Given the description of an element on the screen output the (x, y) to click on. 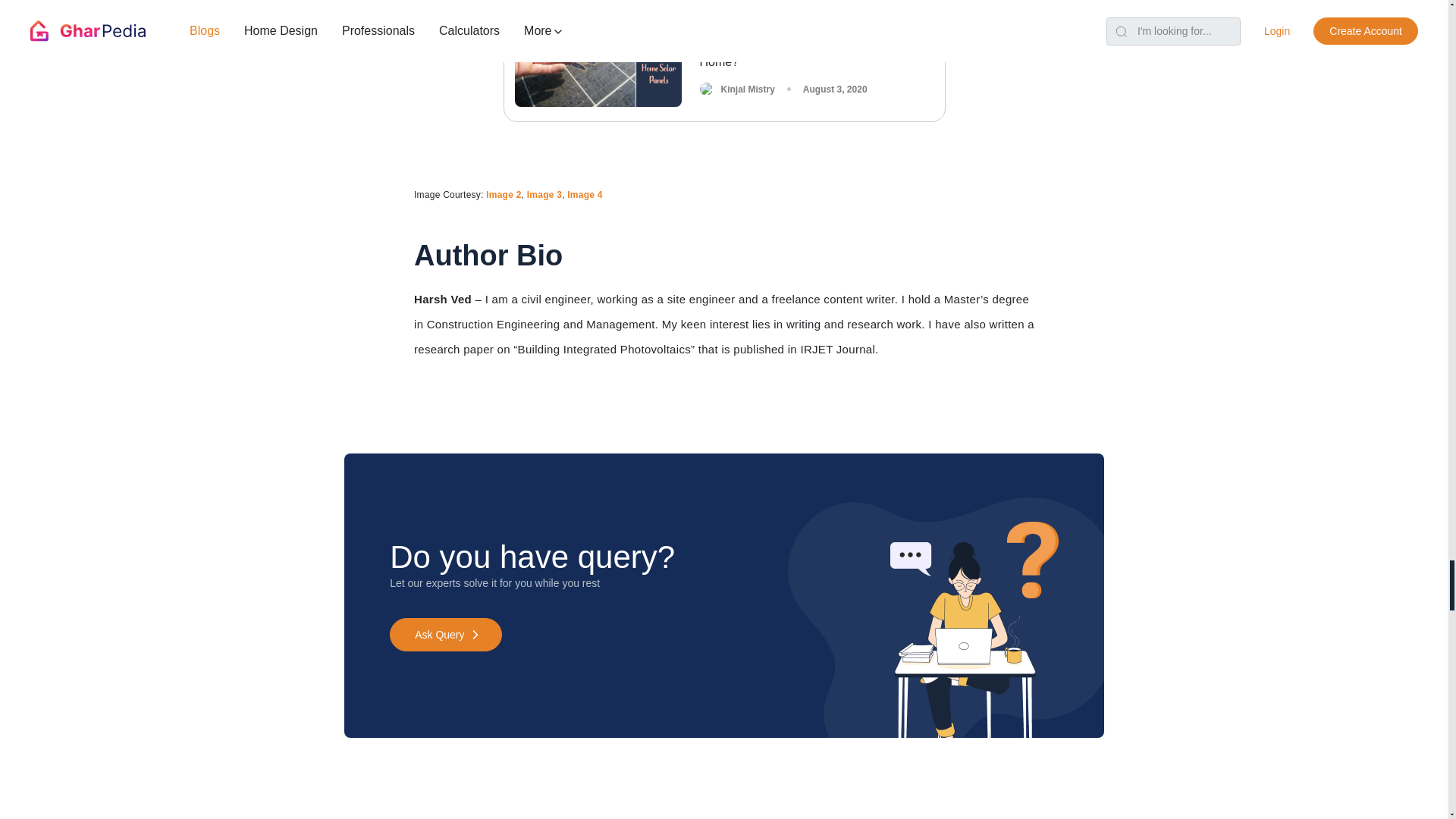
Image 2 (503, 194)
Image 4 (584, 194)
Image 3 (544, 194)
